Given the description of an element on the screen output the (x, y) to click on. 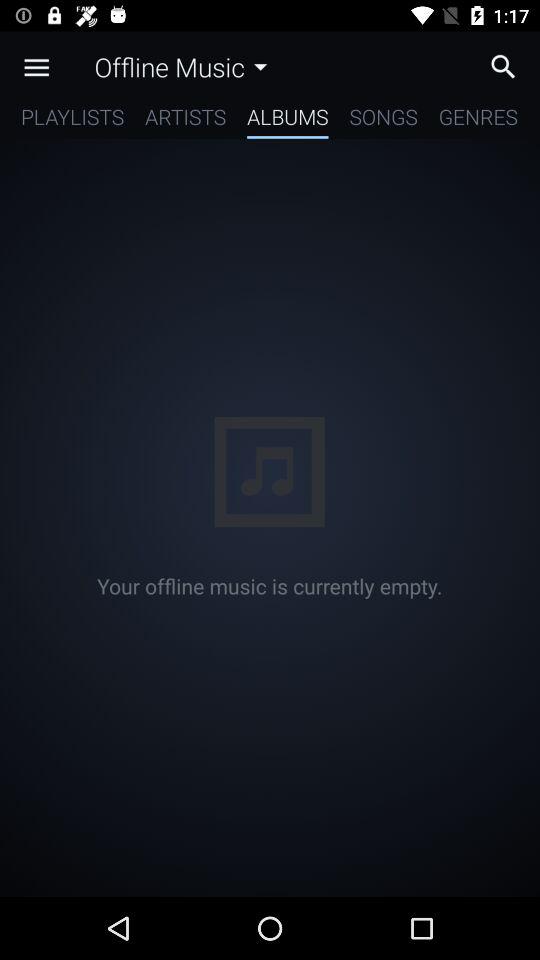
launch songs icon (383, 120)
